Given the description of an element on the screen output the (x, y) to click on. 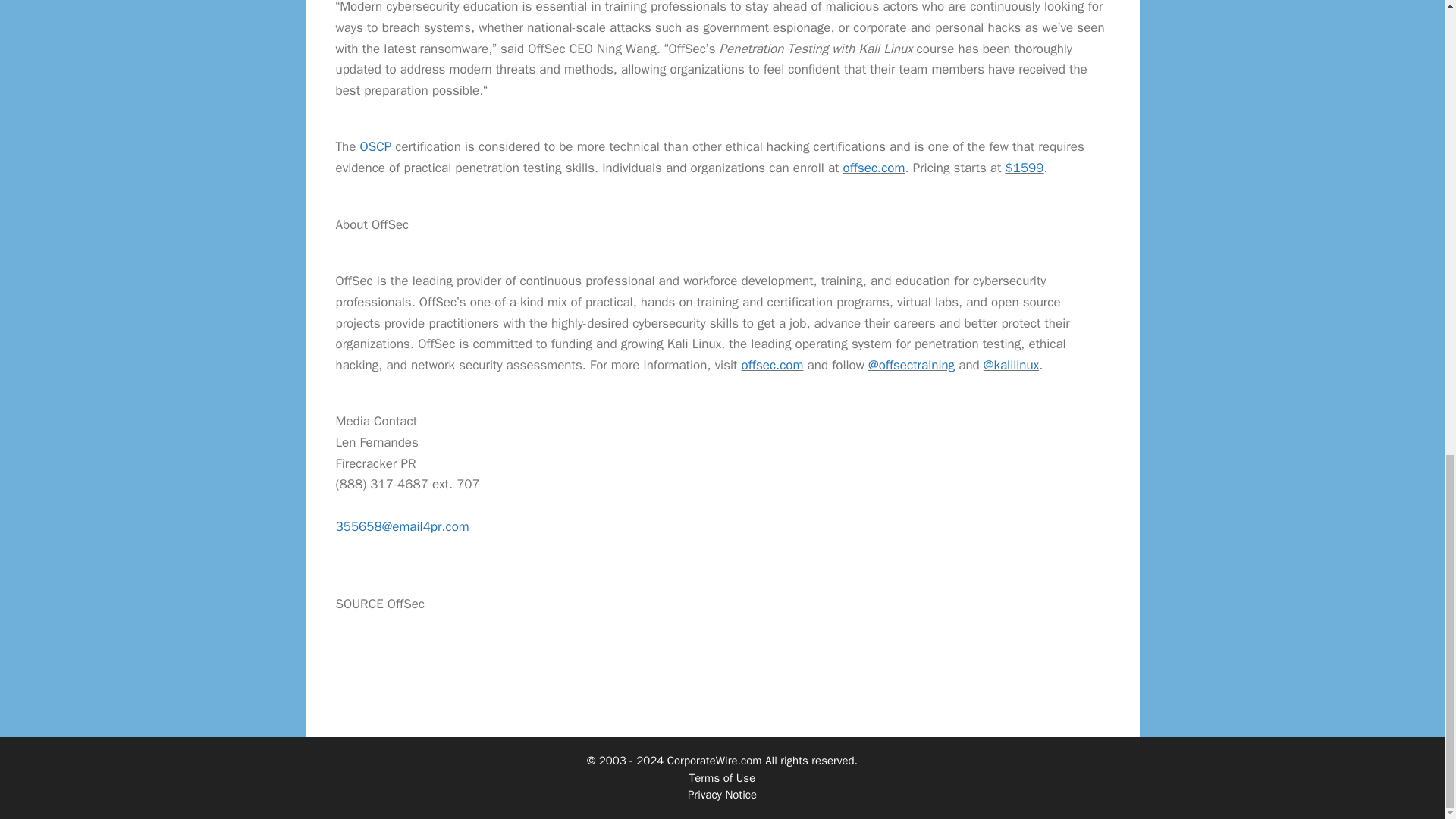
Privacy Notice (722, 794)
Terms of Use (721, 777)
OSCP (375, 146)
offsec.com (874, 167)
offsec.com (772, 365)
